Given the description of an element on the screen output the (x, y) to click on. 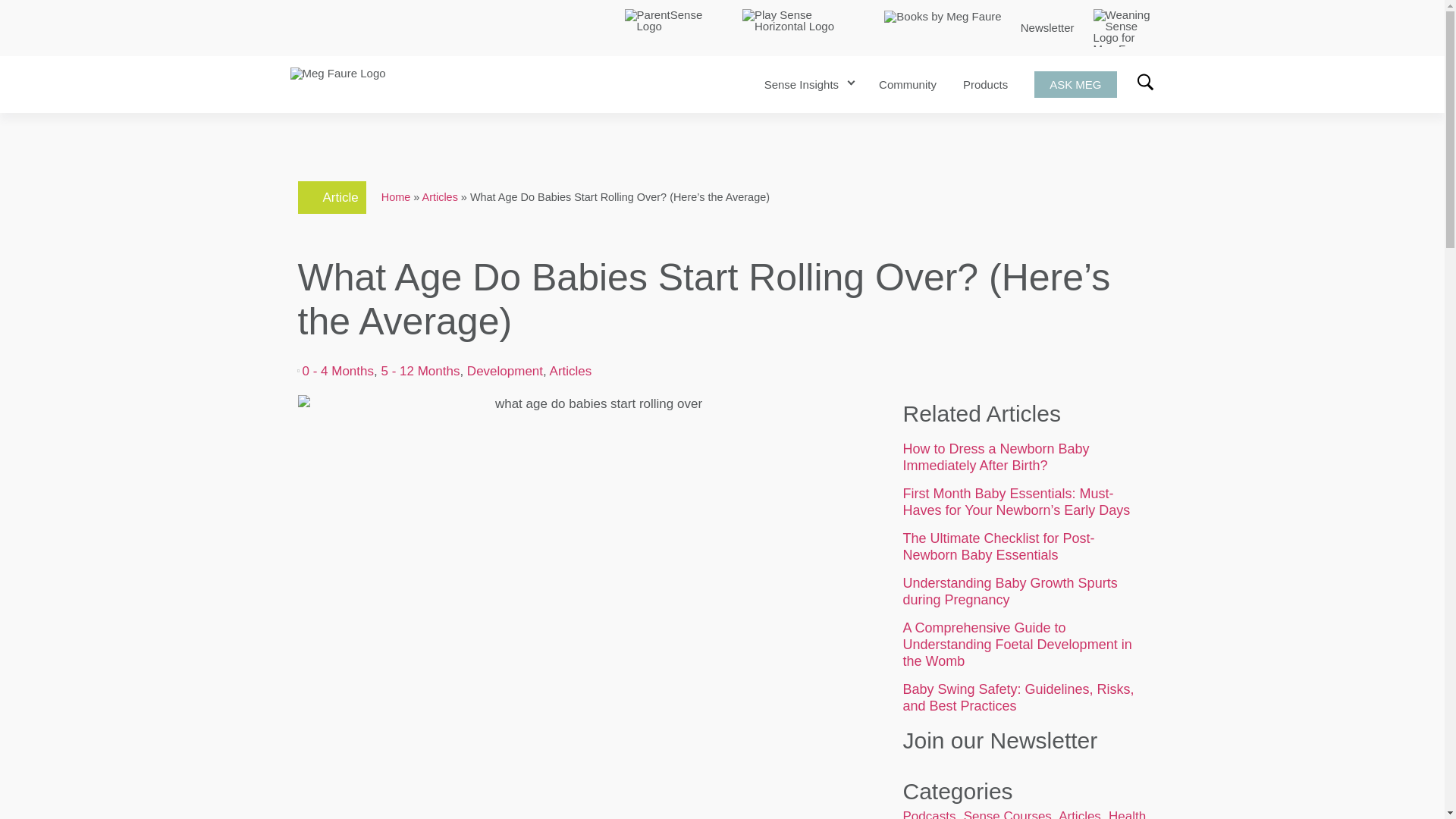
Understanding Baby Growth Spurts during Pregnancy (1009, 591)
0 - 4 Months (337, 370)
Podcasts (928, 814)
How to Dress a Newborn Baby Immediately After Birth? (995, 457)
Articles (571, 370)
Development (505, 370)
Newsletter (1047, 27)
ASK MEG (1074, 84)
The Ultimate Checklist for Post-Newborn Baby Essentials (998, 546)
Products (984, 83)
5 - 12 Months (420, 370)
Sense Insights (801, 83)
Home (395, 196)
Articles (440, 196)
